Given the description of an element on the screen output the (x, y) to click on. 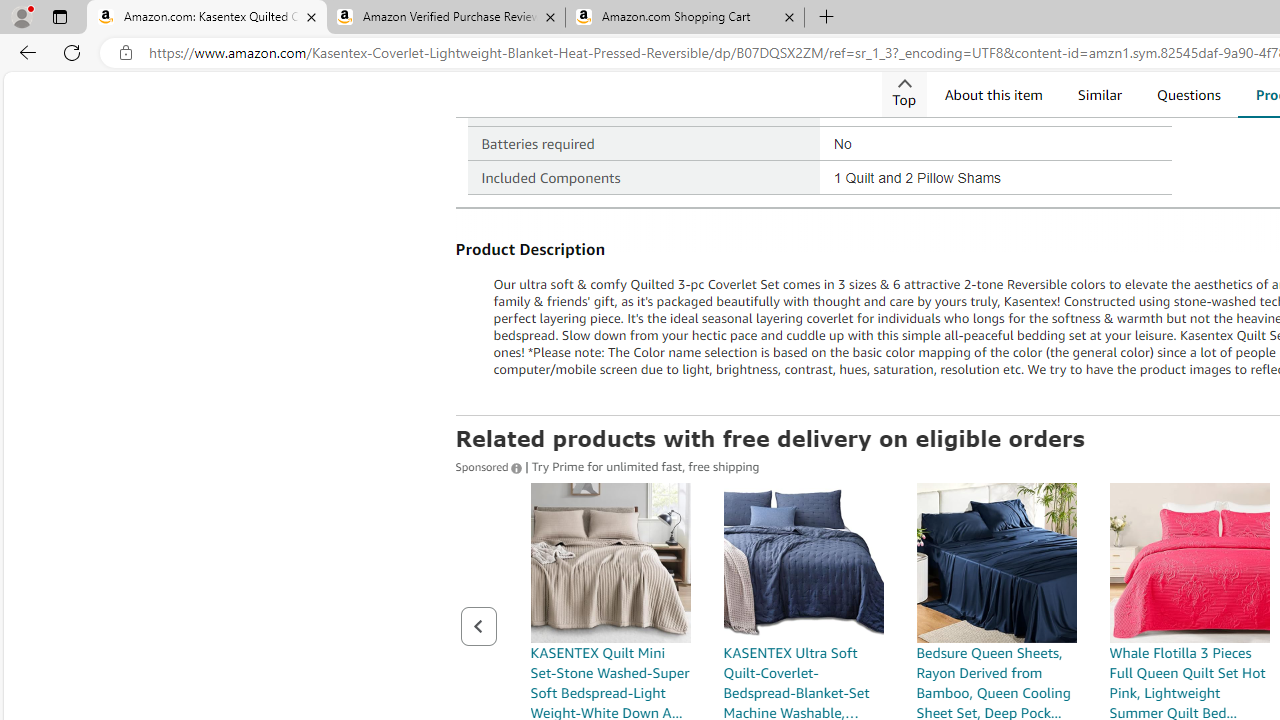
Similar (1099, 94)
Sponsored  (490, 465)
Amazon Verified Purchase Reviews - Amazon Customer Service (445, 17)
Previous page of related Sponsored Products (477, 625)
Amazon.com Shopping Cart (684, 17)
Questions (1188, 94)
Top (903, 94)
